Given the description of an element on the screen output the (x, y) to click on. 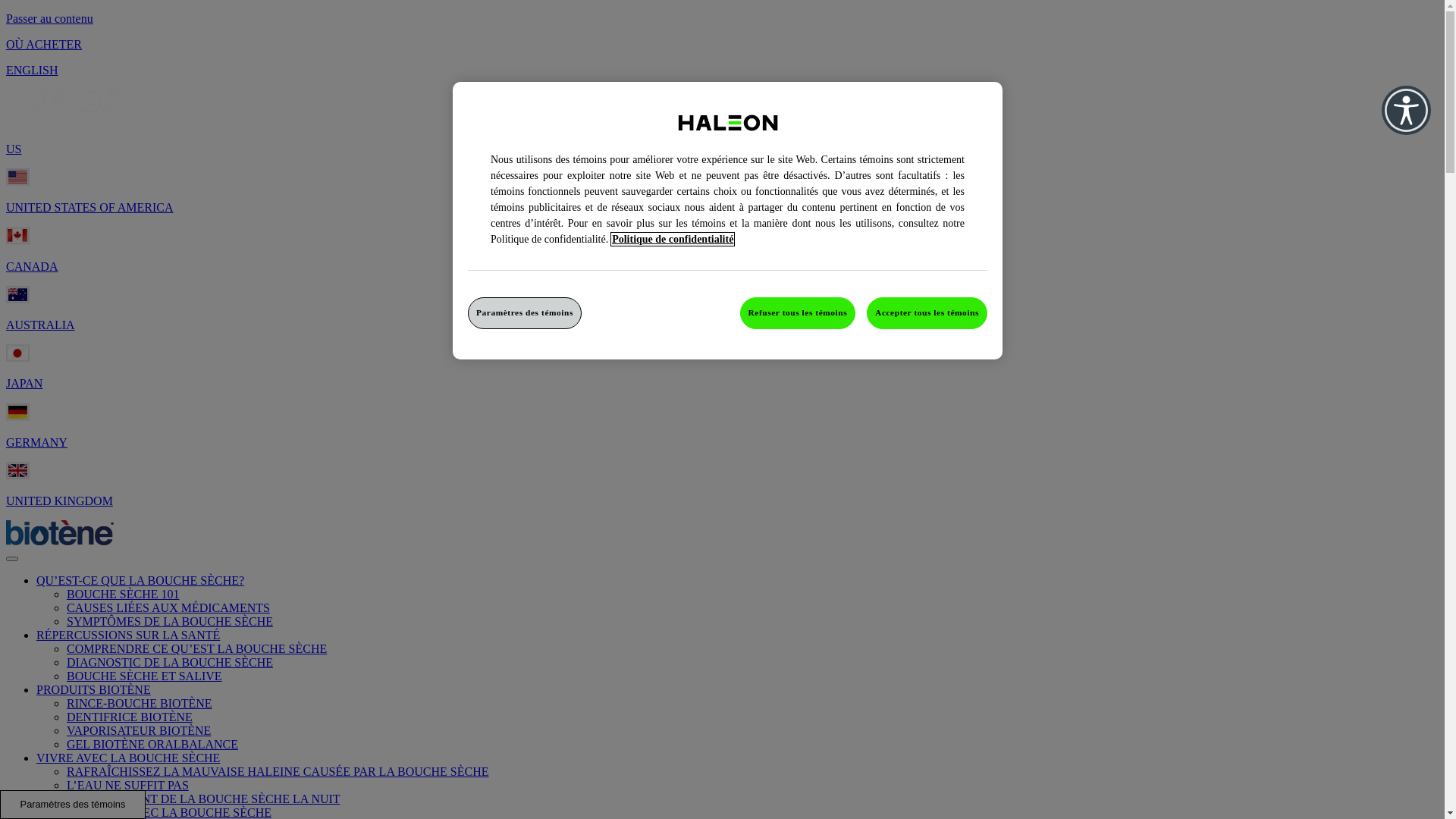
Haleon Element type: hover (62, 100)
Japan Flag Element type: hover (17, 352)
Passer au contenu Element type: text (49, 18)
biotene logo Element type: hover (59, 532)
CANADA Element type: text (31, 266)
United States of America Flag Element type: hover (17, 176)
JAPAN Element type: text (24, 382)
Germany Flag Element type: hover (17, 411)
UNITED STATES OF AMERICA Element type: text (89, 206)
UNITED KINGDOM Element type: text (59, 500)
Australia Flag Element type: hover (17, 294)
globe Element type: hover (11, 121)
United Kingdom Flag Element type: hover (17, 470)
Canada Flag Element type: hover (17, 235)
ENGLISH Element type: text (31, 69)
GERMANY Element type: text (36, 442)
AUSTRALIA Element type: text (40, 324)
US Element type: text (13, 148)
